Given the description of an element on the screen output the (x, y) to click on. 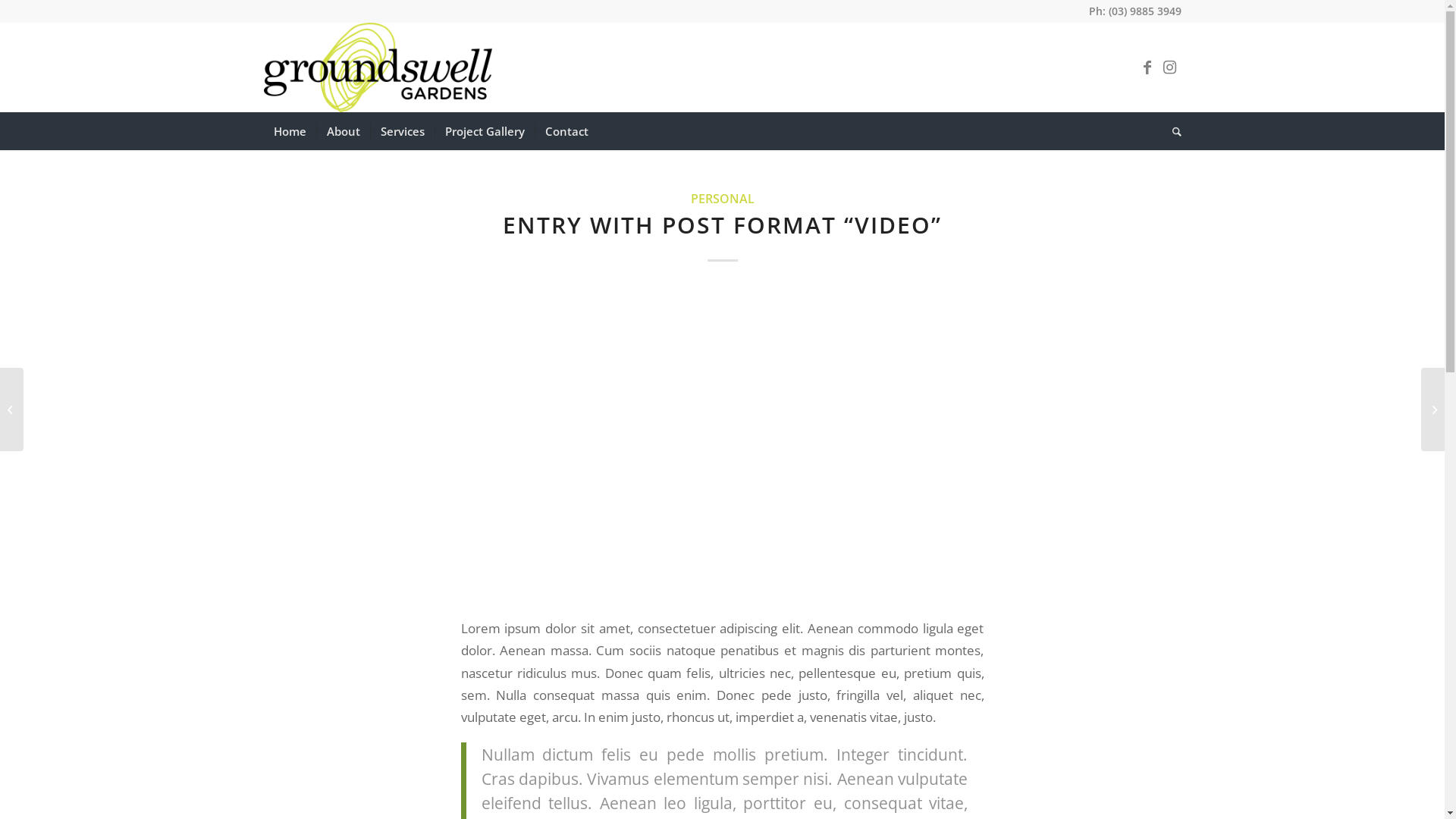
Facebook Element type: hover (1146, 67)
Home Element type: text (289, 131)
Contact Element type: text (565, 131)
PERSONAL Element type: text (721, 198)
Instagram Element type: hover (1169, 67)
Services Element type: text (402, 131)
About Element type: text (342, 131)
(03) 9885 3949 Element type: text (1144, 10)
Project Gallery Element type: text (483, 131)
